Given the description of an element on the screen output the (x, y) to click on. 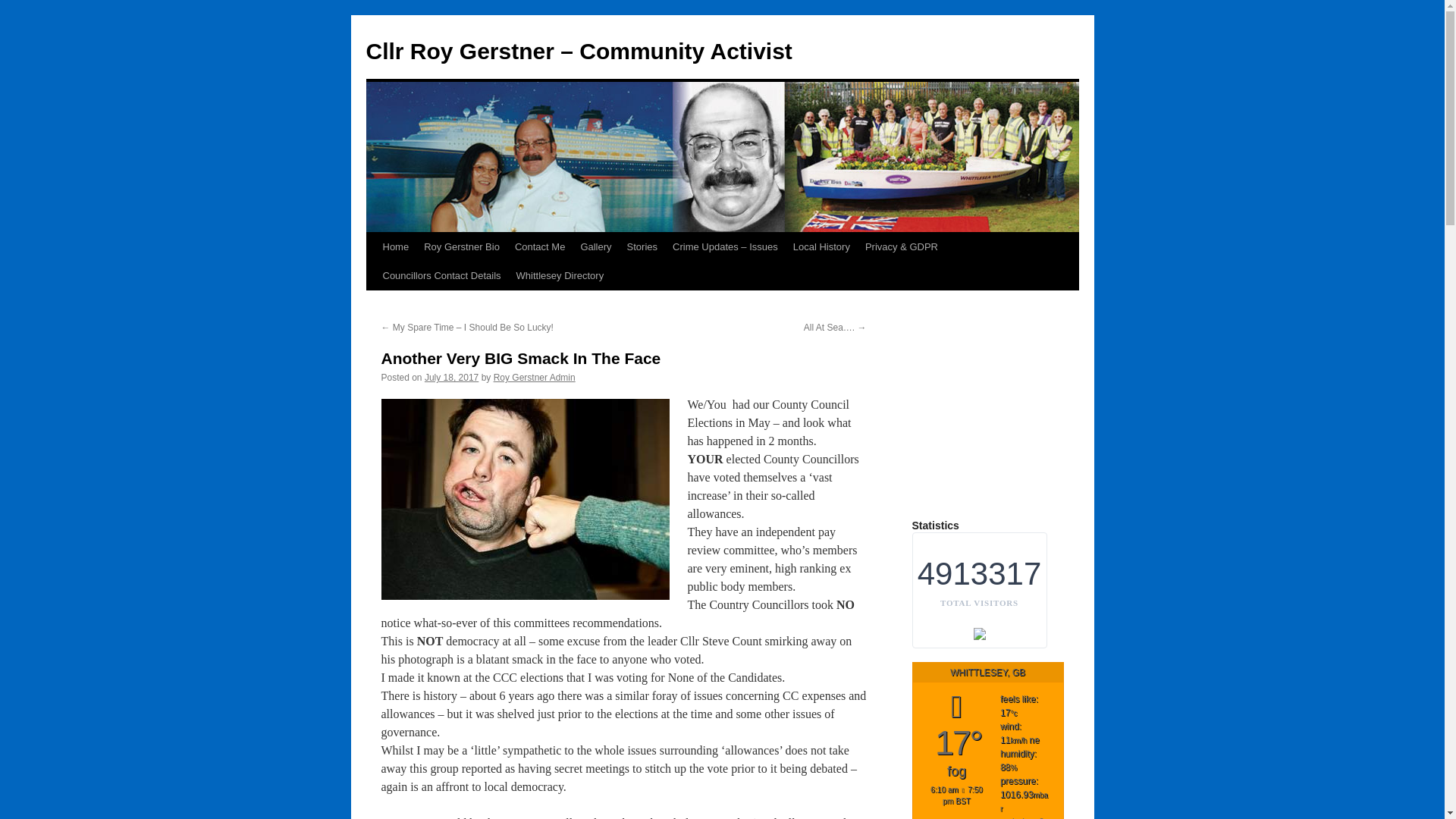
Stories (642, 246)
Roy Gerstner Bio (461, 246)
Contact Me (539, 246)
Local History (821, 246)
Roy Gerstner Admin (534, 377)
View all posts by Roy Gerstner Admin (534, 377)
July 18, 2017 (452, 377)
Home (395, 246)
Whittlesey Directory (559, 275)
Gallery (595, 246)
